Given the description of an element on the screen output the (x, y) to click on. 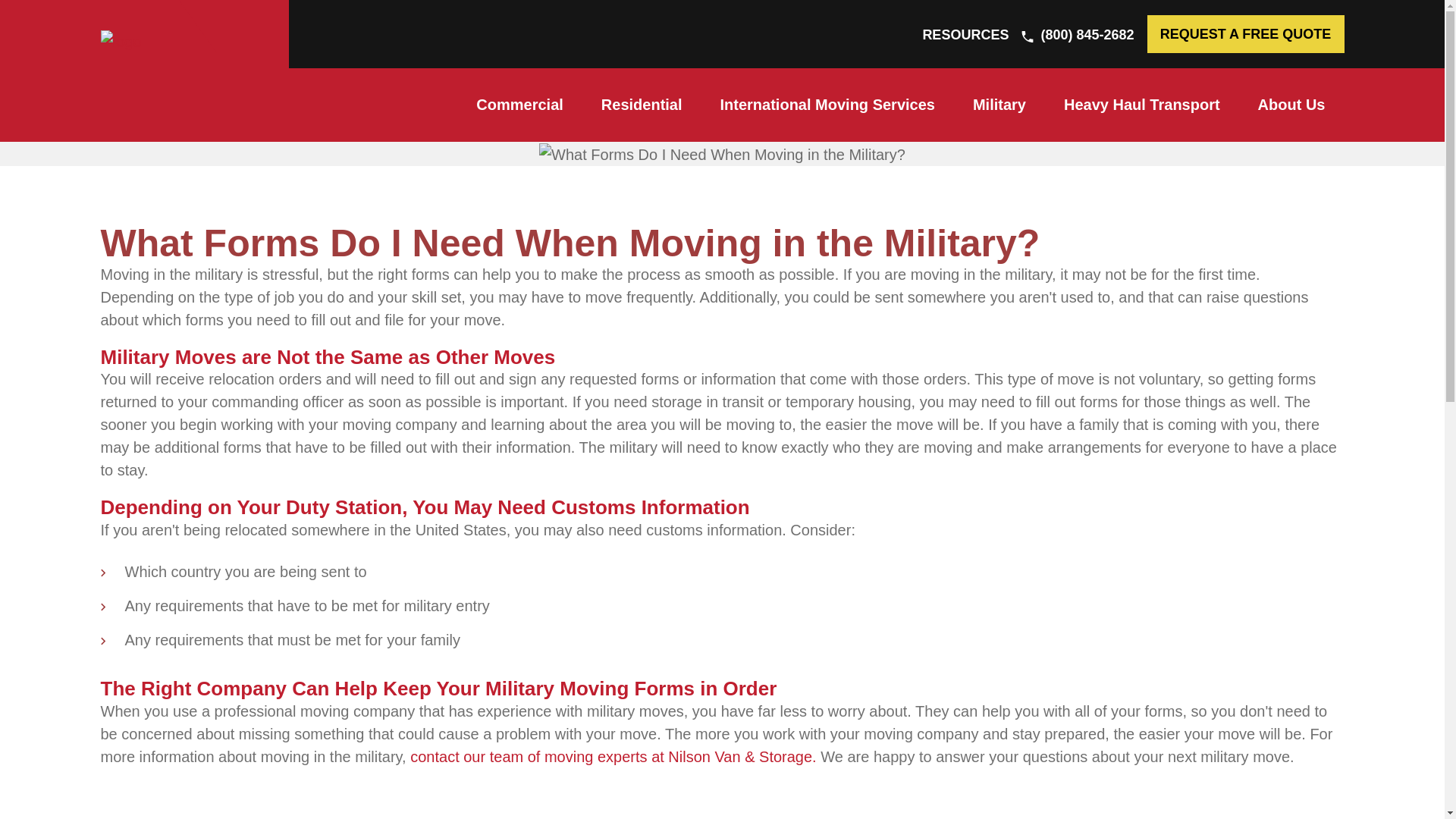
Residential (641, 104)
Military (999, 104)
RESOURCES (965, 34)
Heavy Haul Transport (1142, 104)
REQUEST A FREE QUOTE (1245, 34)
International Moving Services (827, 104)
Commercial (519, 104)
